Given the description of an element on the screen output the (x, y) to click on. 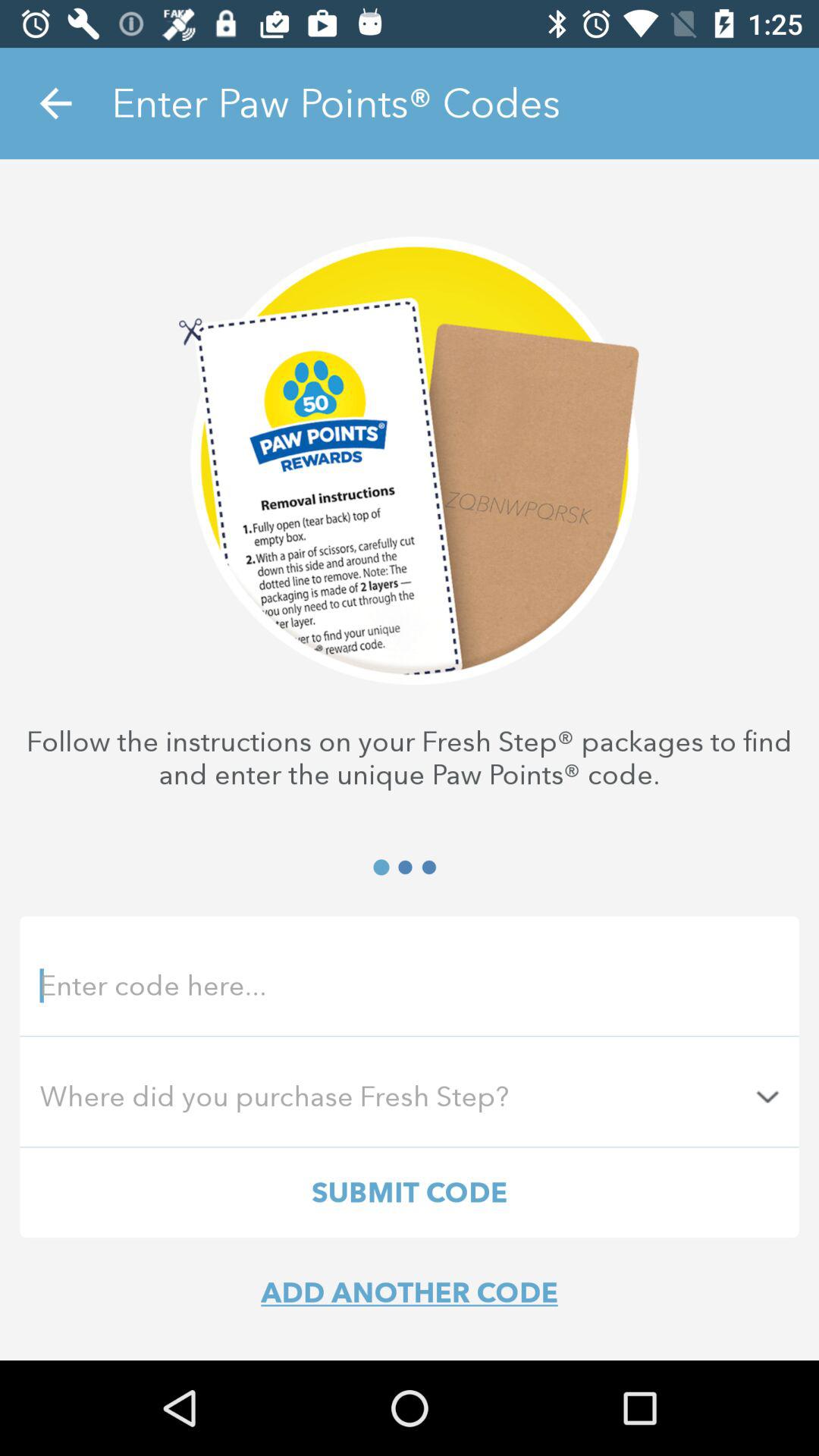
turn off the item below the submit code icon (409, 1292)
